Given the description of an element on the screen output the (x, y) to click on. 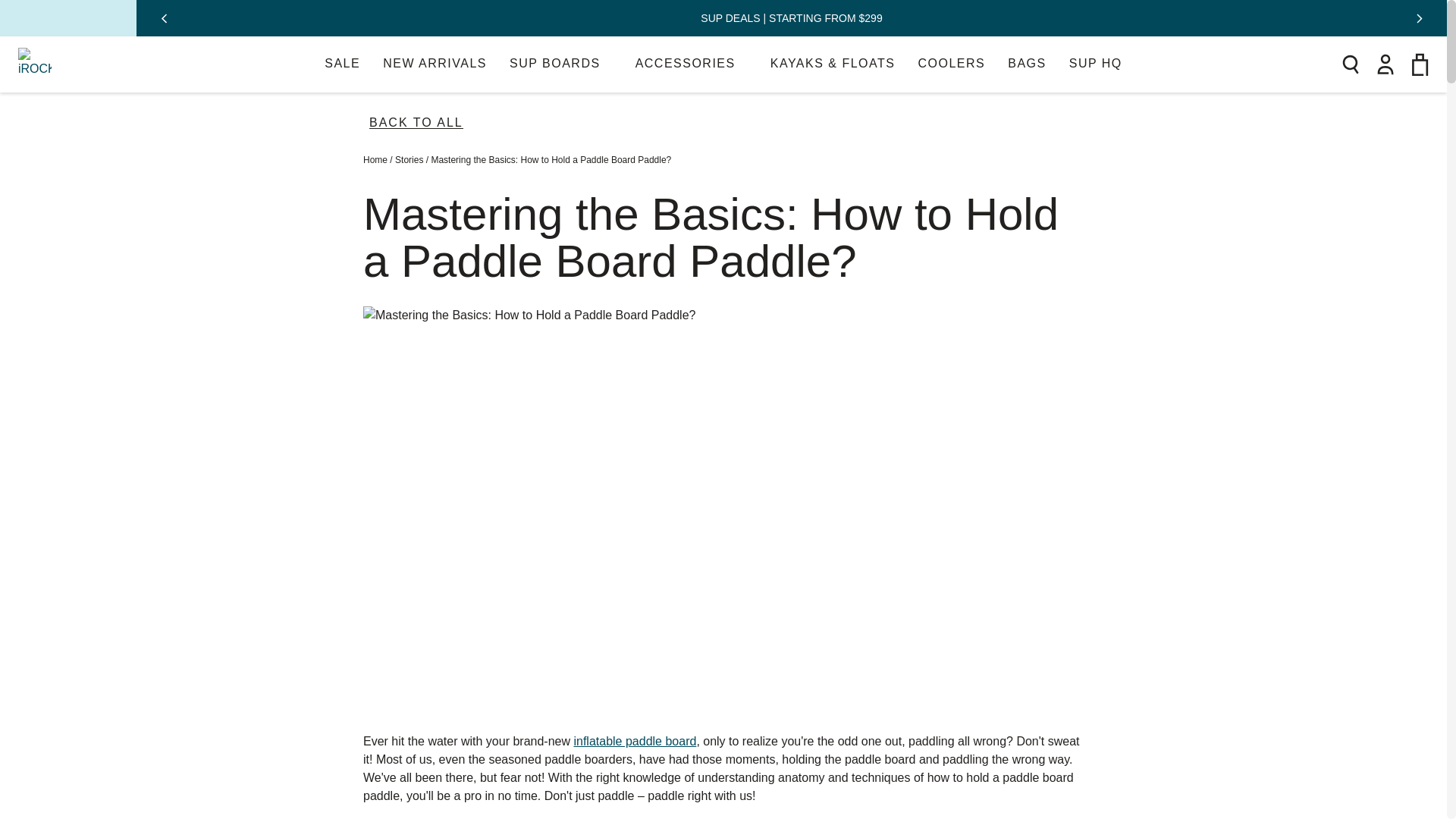
Accessories (691, 63)
SUP Boards (560, 63)
NEW ARRIVALS (434, 63)
Coolers (951, 63)
Bags (1026, 63)
ACCESSORIES (691, 63)
Home (374, 159)
iROCKER Canada (33, 64)
Sale (341, 63)
NEW ARRIVALS (434, 63)
SUP HQ (1095, 63)
SALE (341, 63)
SUP BOARDS (560, 63)
